Given the description of an element on the screen output the (x, y) to click on. 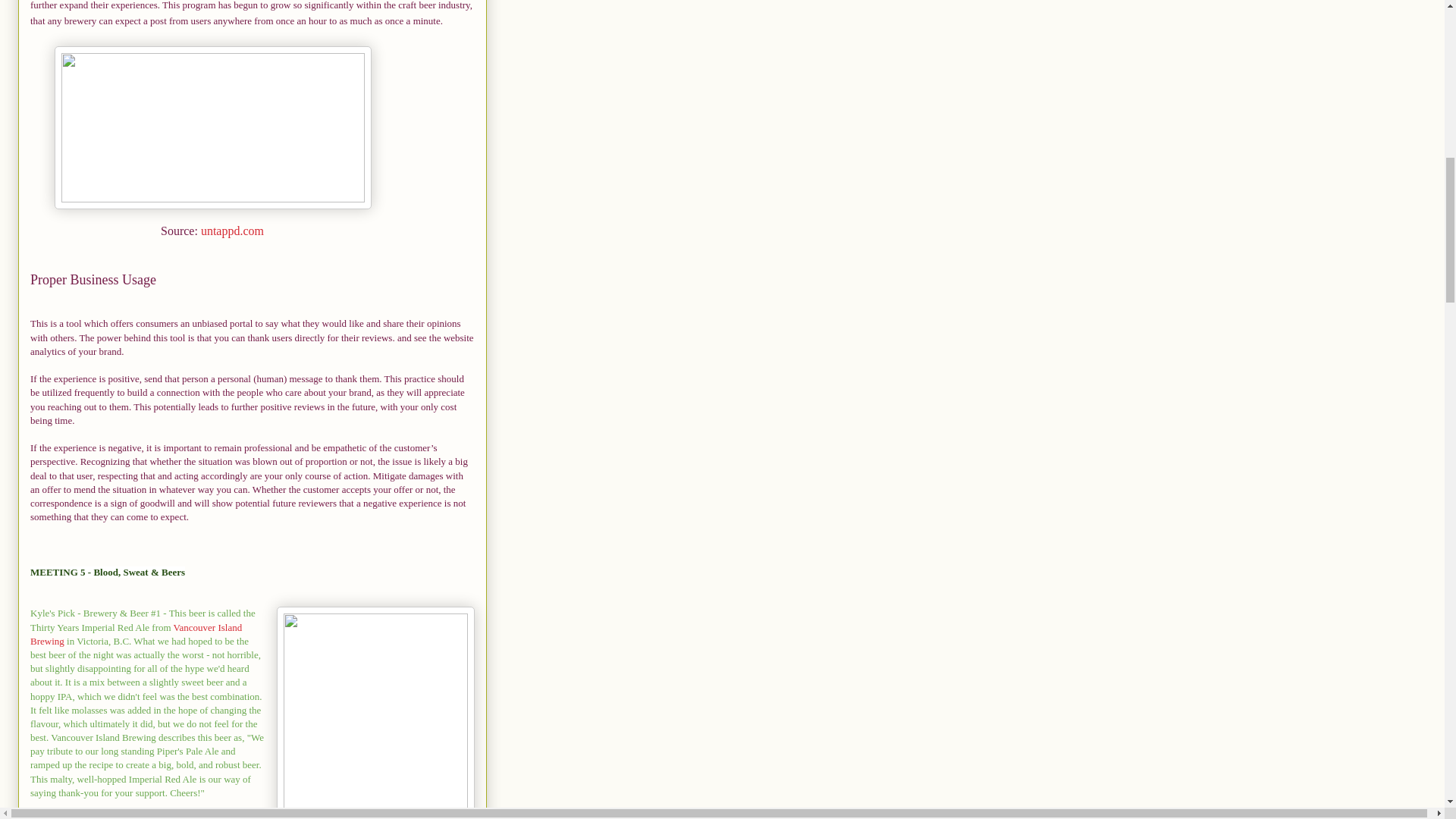
untappd.com (231, 230)
Vancouver Island Brewing (135, 634)
